Given the description of an element on the screen output the (x, y) to click on. 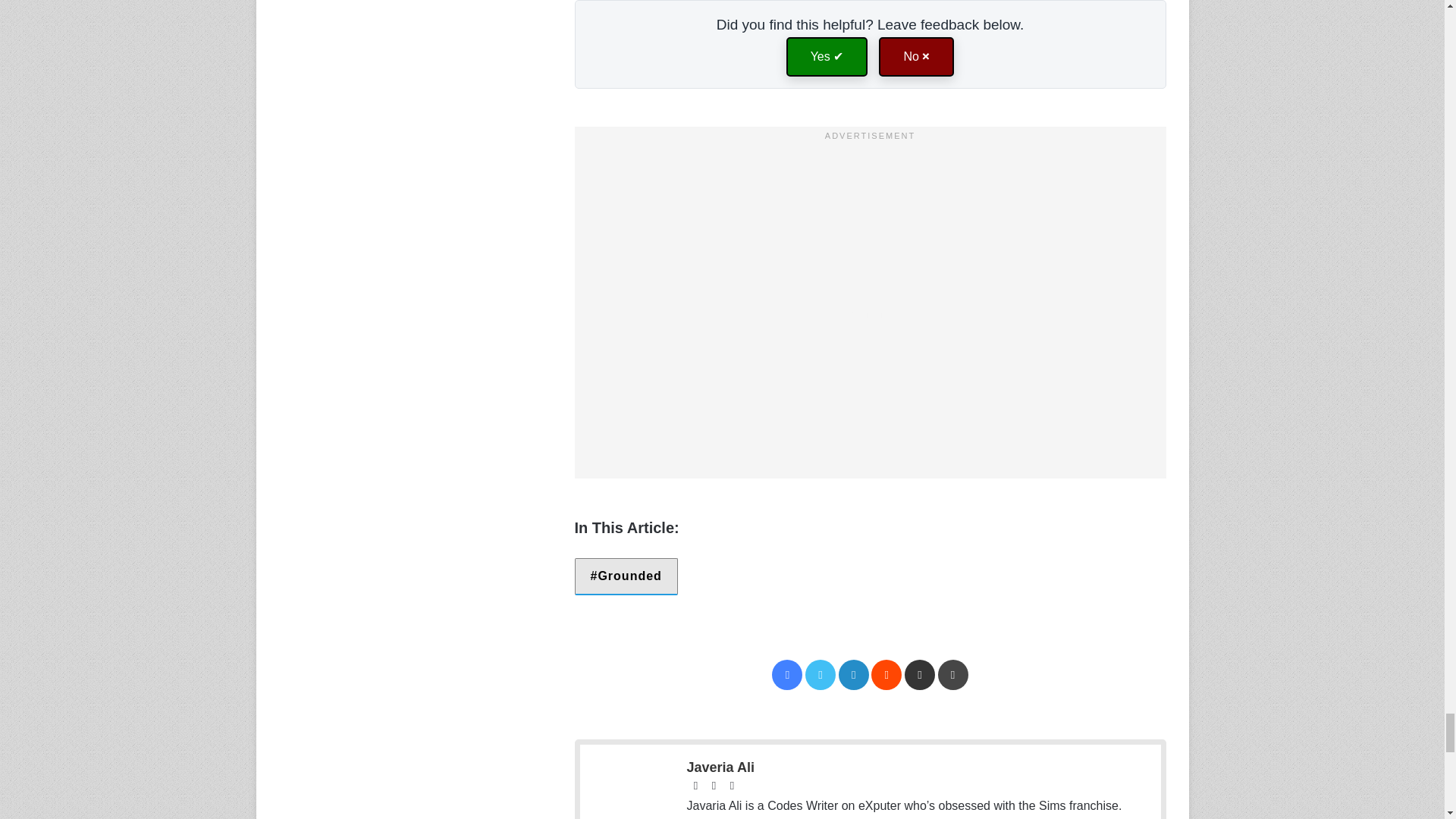
Facebook (786, 675)
Reddit (885, 675)
Print (952, 675)
Twitter (820, 675)
Share via Email (919, 675)
LinkedIn (853, 675)
